Given the description of an element on the screen output the (x, y) to click on. 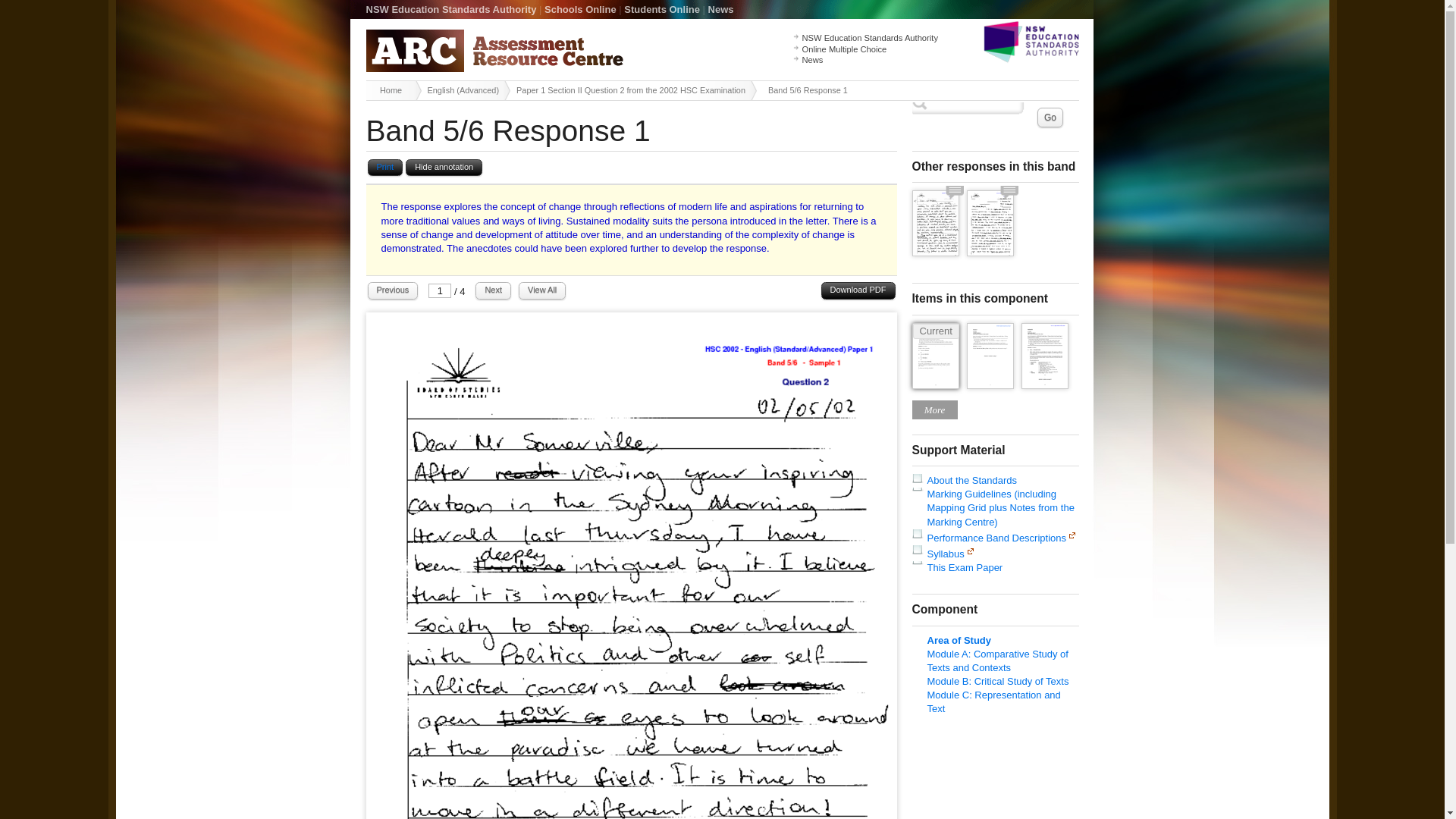
Download PDF (858, 290)
About the Standards (971, 480)
Module B: Critical Study of Texts (997, 681)
Performance Band Descriptions (995, 537)
Paper 1 Section II Question 2 from the 2002 HSC Examination (634, 90)
NSW Education Standards Authority (450, 9)
Download PDF (858, 290)
NSW Education Standards Authority (869, 37)
Annotation is available for this response (953, 194)
1 (439, 290)
View All (542, 290)
Go (1050, 117)
Area of Study (958, 640)
News (720, 9)
Next (493, 290)
